Given the description of an element on the screen output the (x, y) to click on. 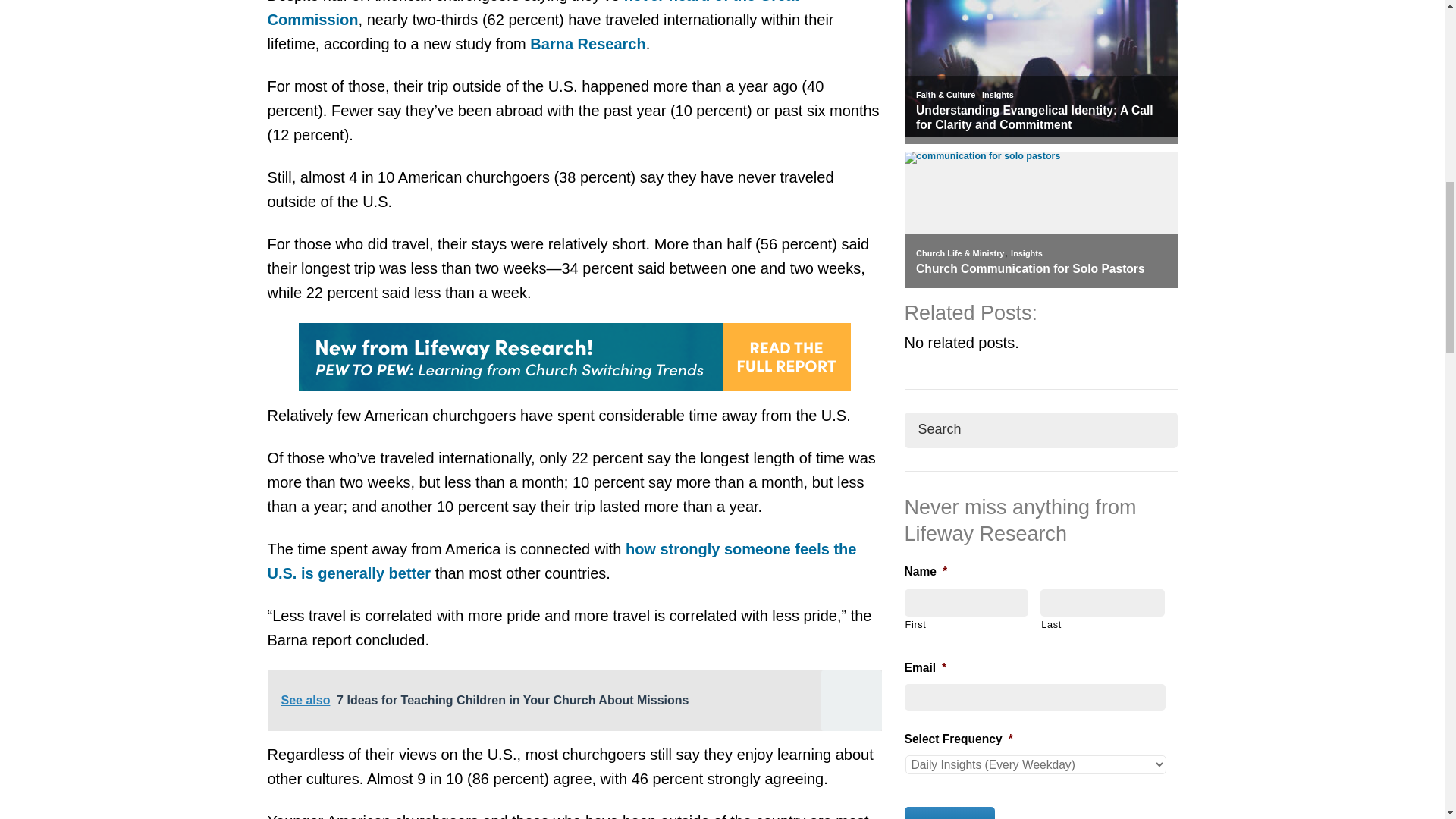
Barna Research (587, 44)
never heard of the Great Commission (531, 13)
Submit (949, 812)
how strongly someone feels the U.S. is generally better (561, 560)
